Given the description of an element on the screen output the (x, y) to click on. 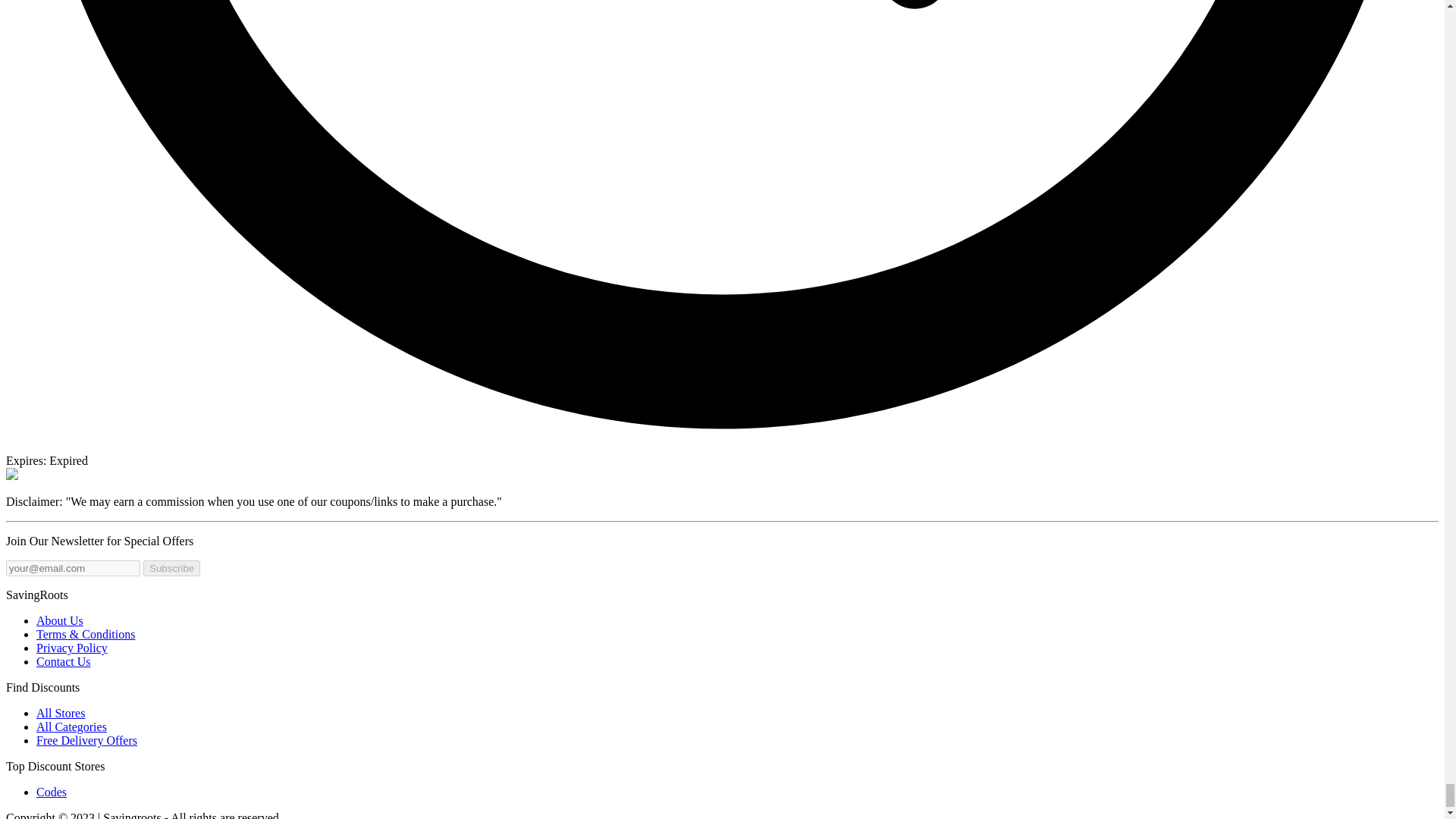
Subscribe (171, 568)
